Given the description of an element on the screen output the (x, y) to click on. 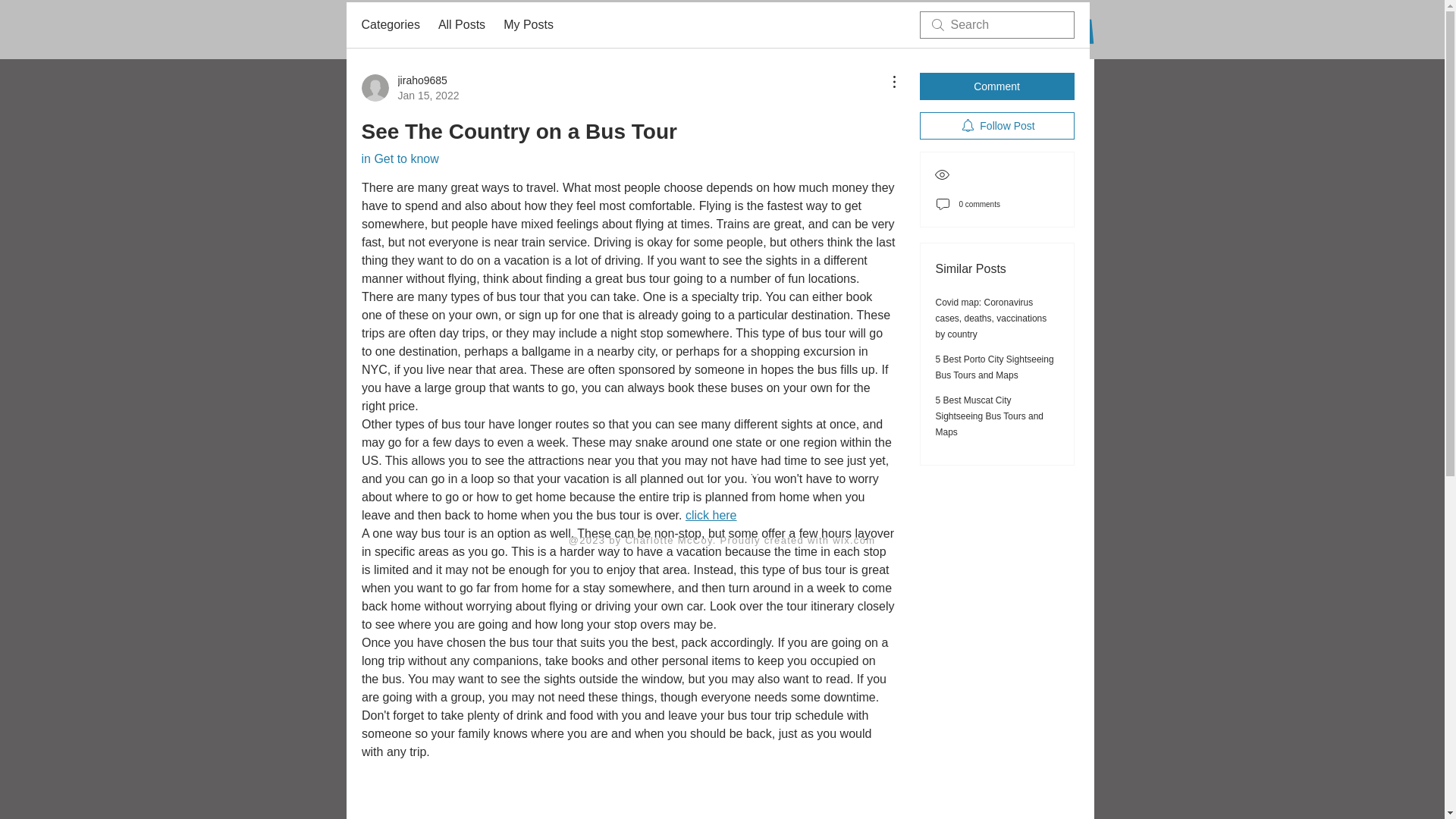
COLLECTION 2021 (753, 37)
My Posts (528, 24)
in Get to know (409, 87)
PORTFOLIO (399, 158)
COLLECTION 2022 (915, 37)
ABOUT (654, 37)
click here (417, 37)
5 Best Porto City Sightseeing Bus Tours and Maps (710, 514)
Back to Top (995, 366)
All Posts (722, 472)
5 Best Muscat City Sightseeing Bus Tours and Maps (461, 24)
CONTACT (989, 415)
Categories (573, 37)
